Given the description of an element on the screen output the (x, y) to click on. 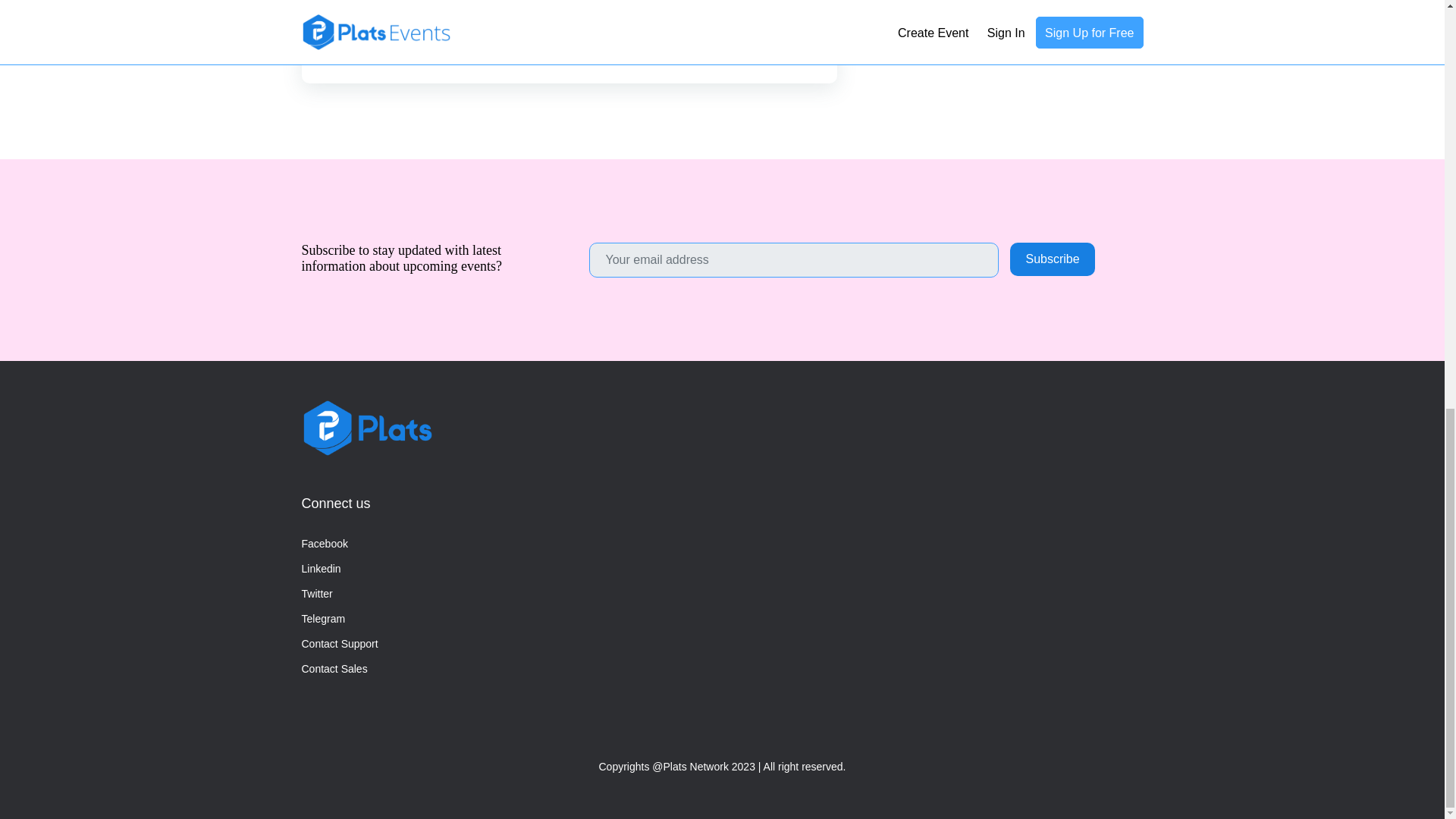
Subscribe (1052, 259)
Telegram (323, 618)
Contact Sales (334, 668)
Twitter (317, 593)
Contact Support (339, 643)
Facebook (324, 544)
Linkedin (320, 569)
